Given the description of an element on the screen output the (x, y) to click on. 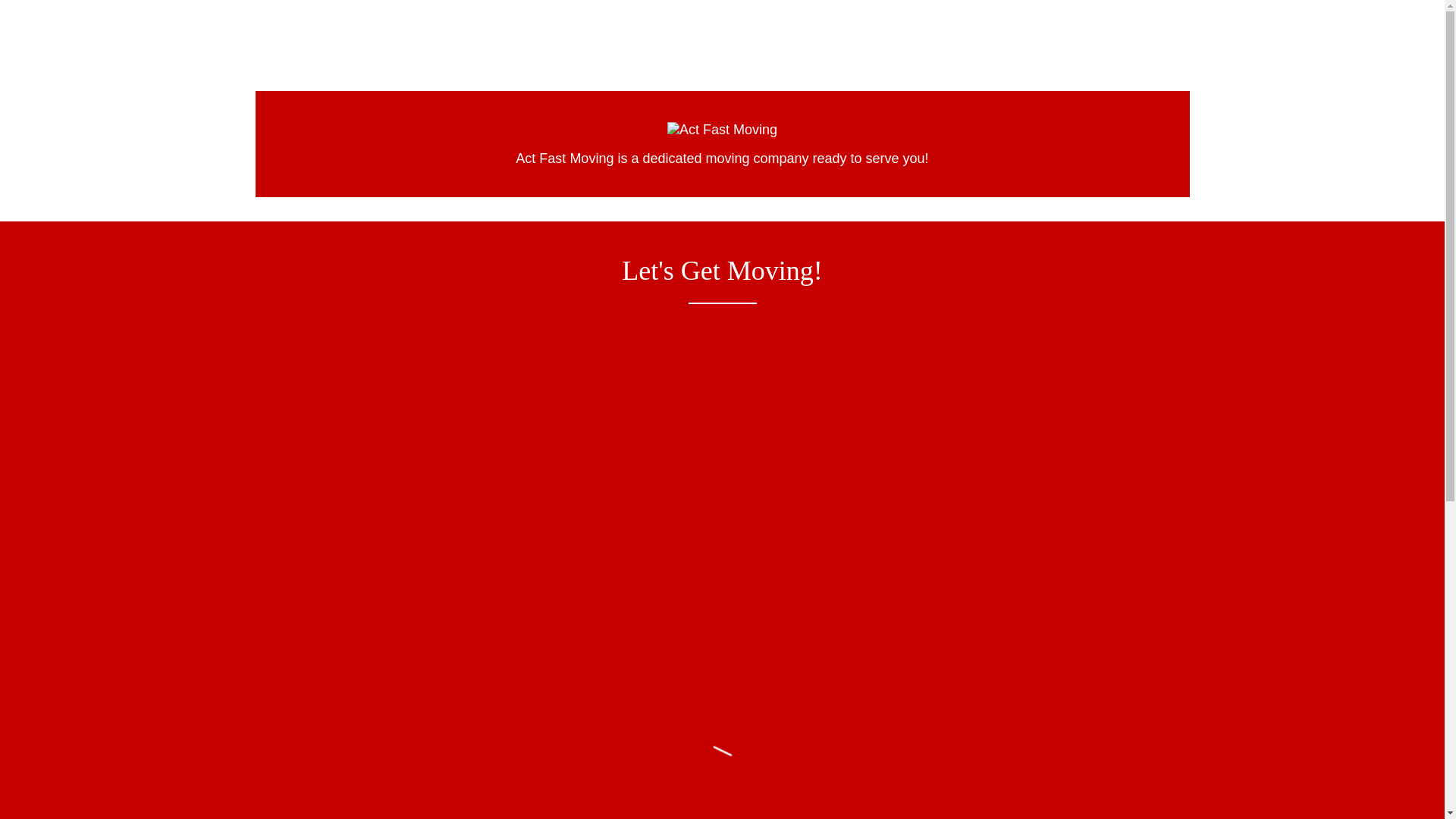
Act Fast Moving Element type: hover (722, 128)
